Given the description of an element on the screen output the (x, y) to click on. 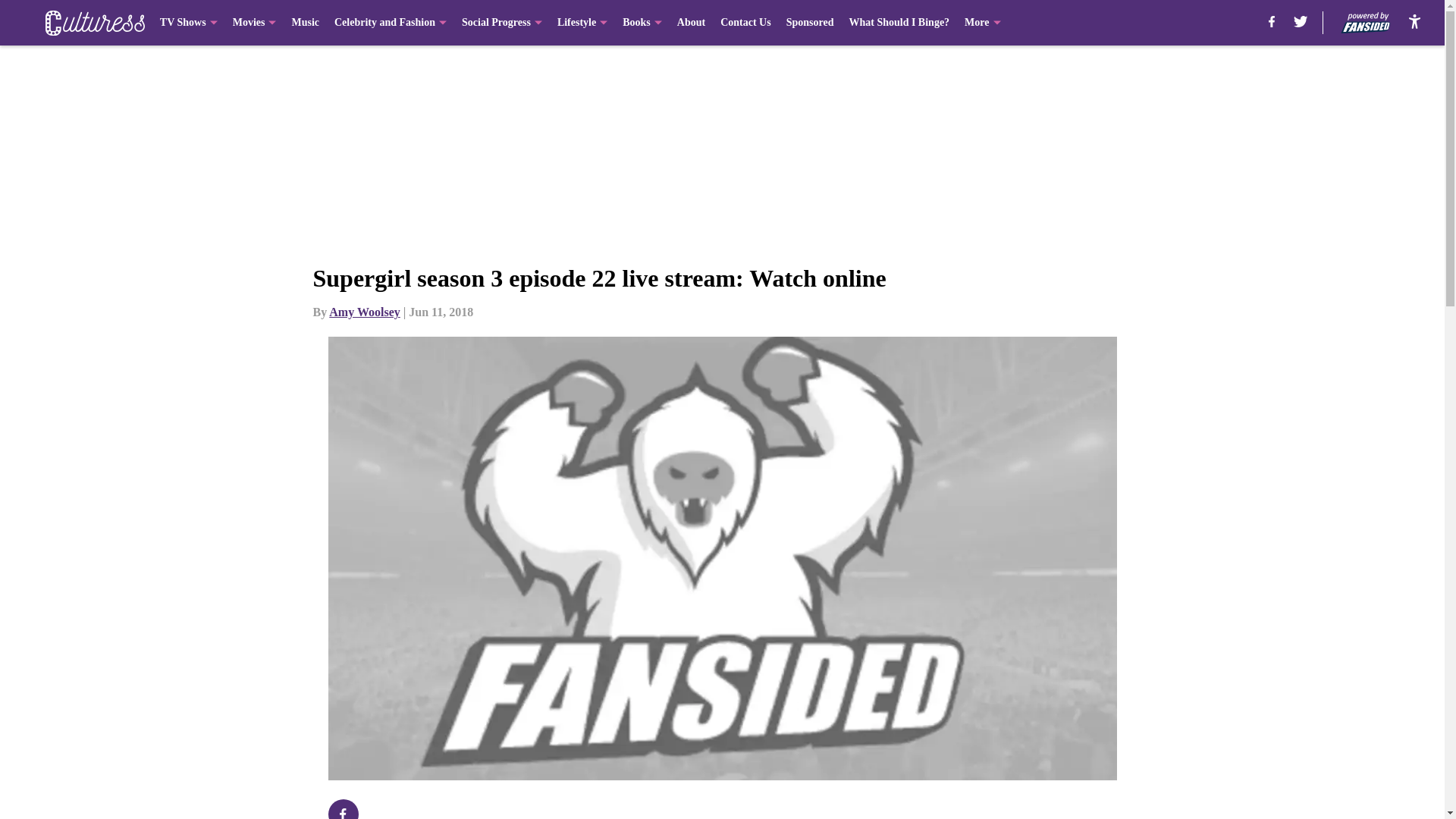
Music (304, 22)
